Given the description of an element on the screen output the (x, y) to click on. 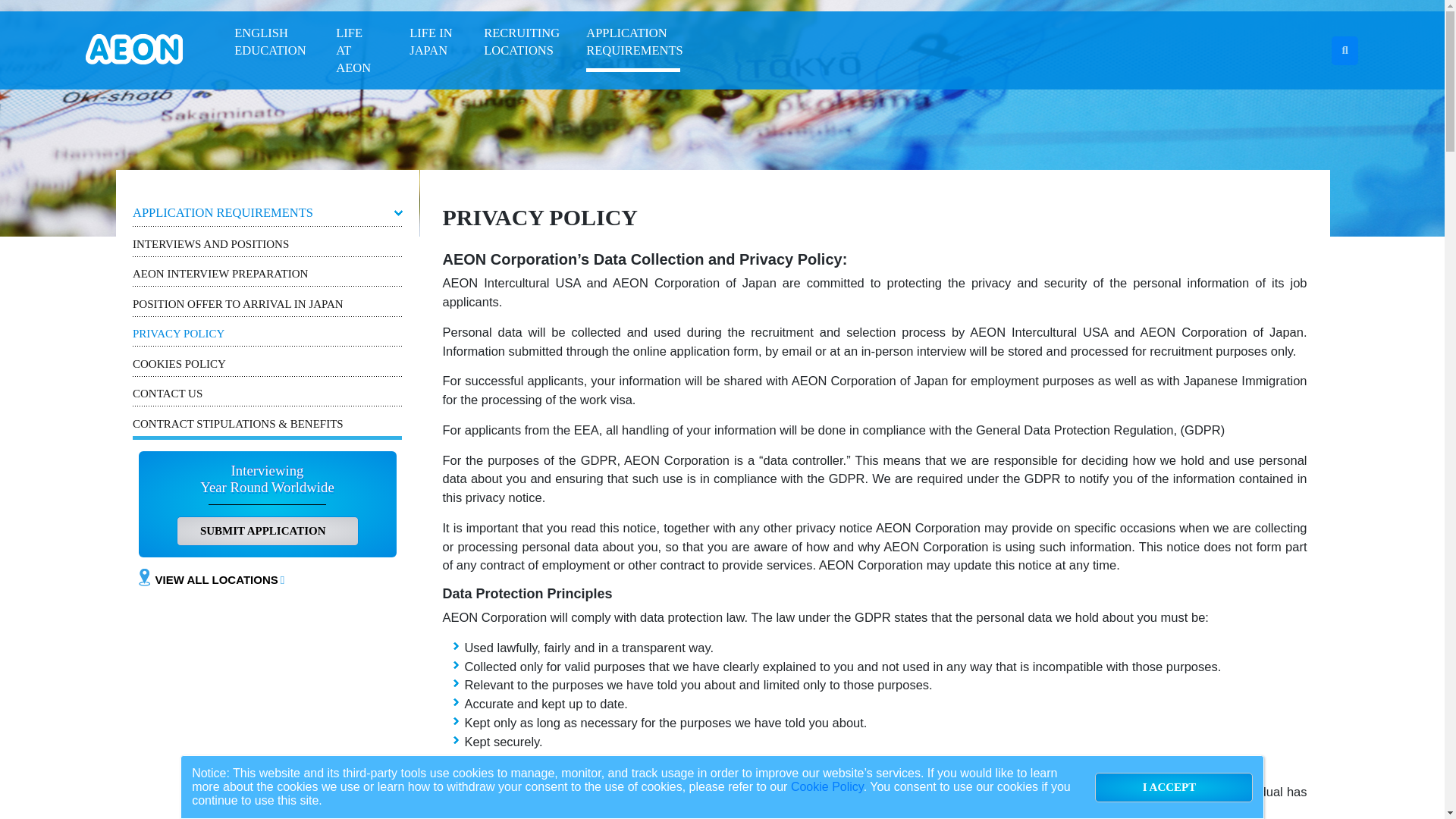
Cookie Policy (826, 786)
CONTACT US (266, 393)
RECRUITING LOCATIONS (519, 43)
View all AEON locations (221, 578)
Application Requirements (632, 43)
PRIVACY POLICY (266, 333)
ENGLISH EDUCATION (269, 43)
I ACCEPT (1173, 787)
English Education (269, 43)
COOKIES POLICY (266, 364)
SUBMIT APPLICATION (267, 531)
AEON INTERVIEW PREPARATION (266, 273)
POSITION OFFER TO ARRIVAL IN JAPAN (266, 304)
APPLICATION REQUIREMENTS (632, 43)
INTERVIEWS AND POSITIONS (266, 243)
